Given the description of an element on the screen output the (x, y) to click on. 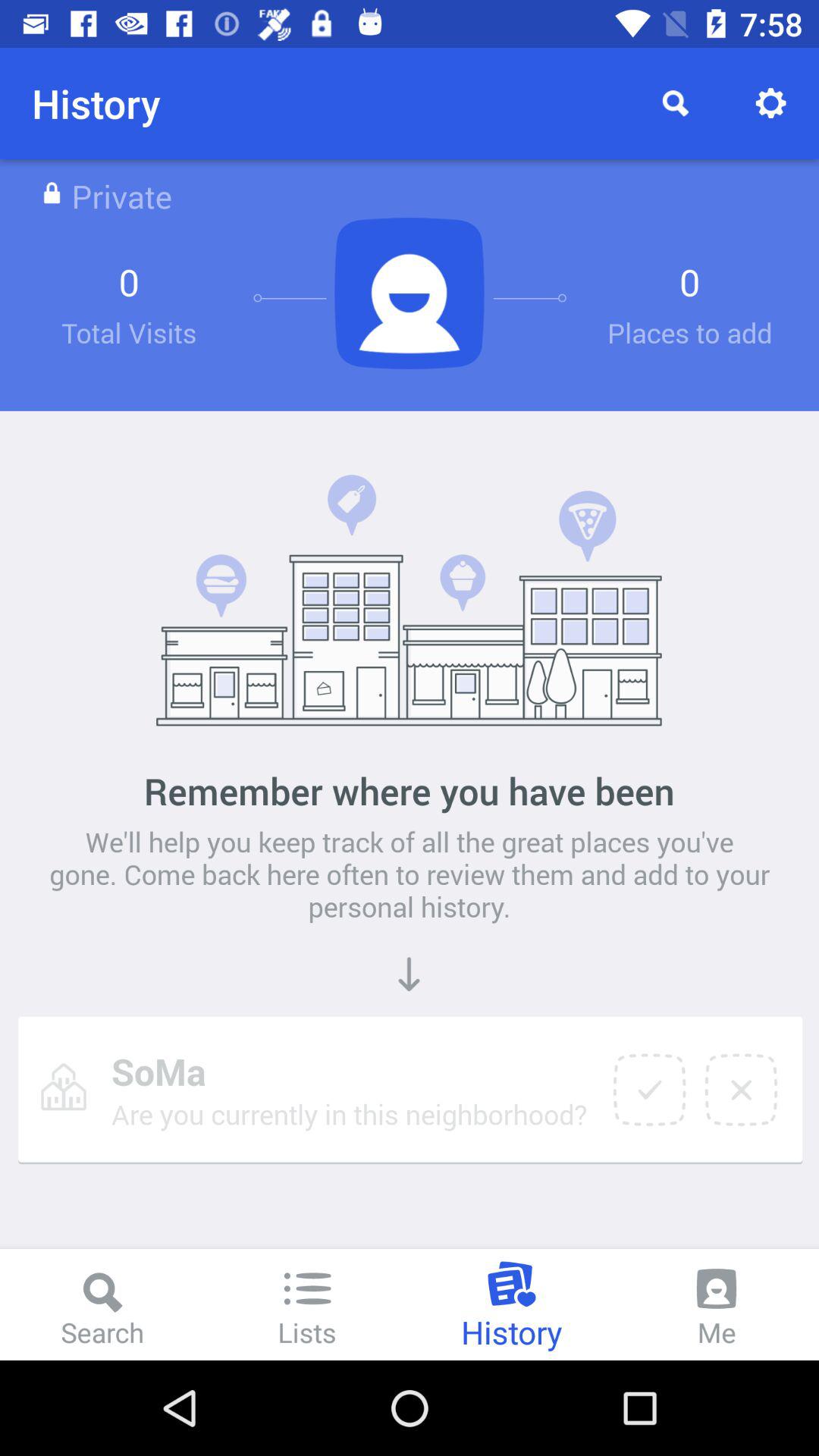
choose item next to the are you currently item (649, 1089)
